Given the description of an element on the screen output the (x, y) to click on. 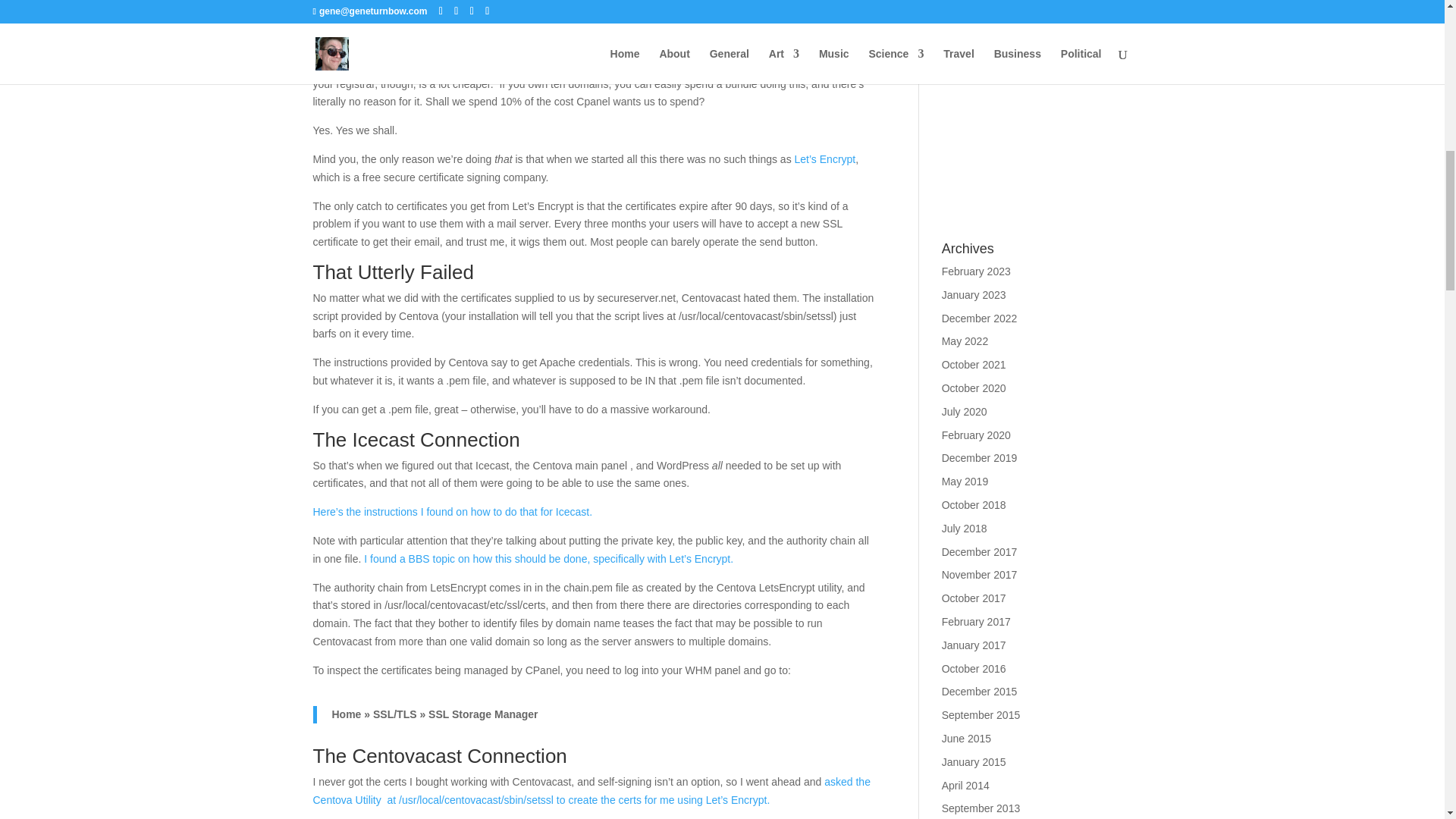
CodePen Embed rawvJe (1037, 102)
